Given the description of an element on the screen output the (x, y) to click on. 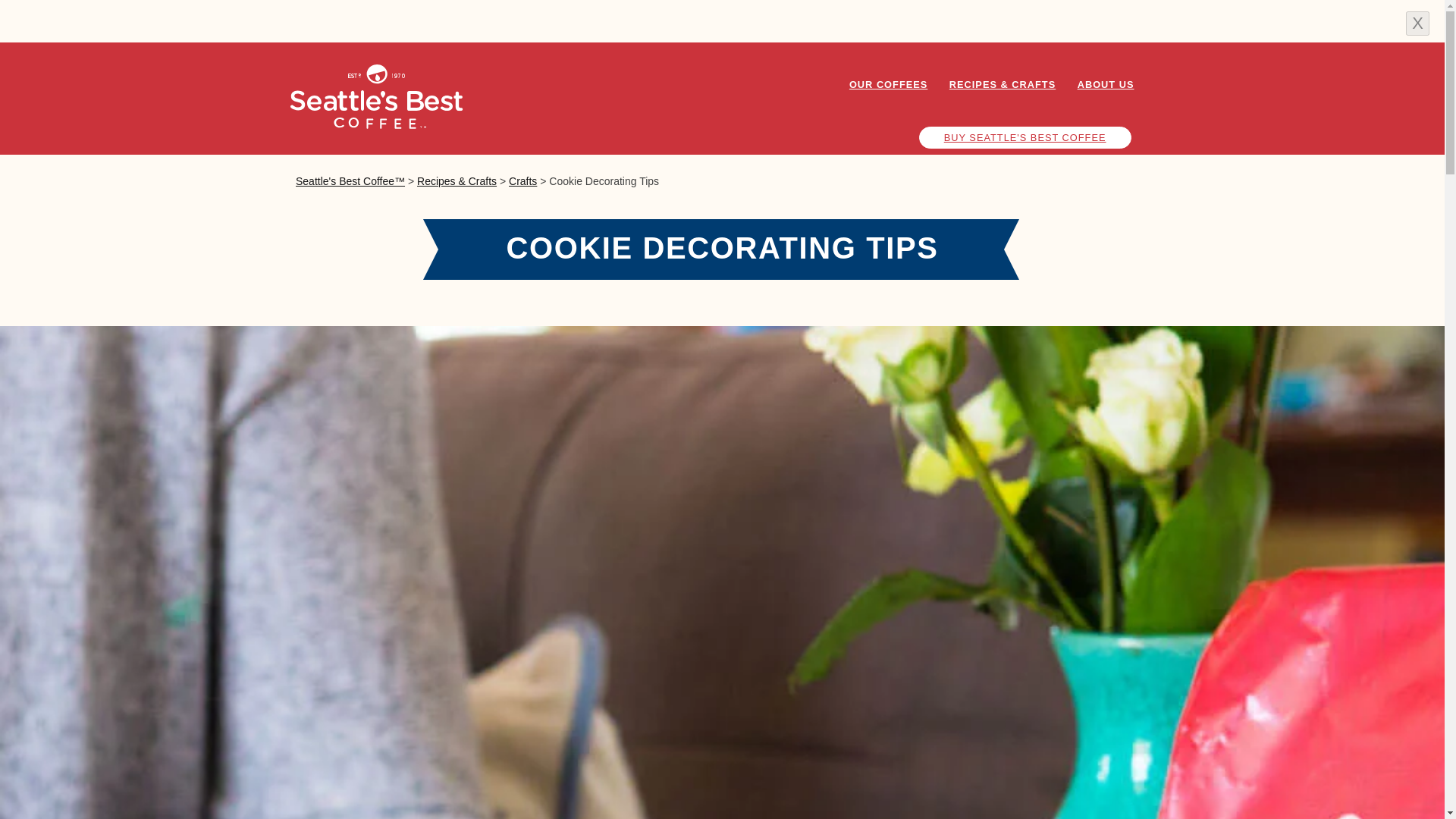
Crafts (522, 181)
Skip to main content (722, 2)
BUY SEATTLE'S BEST COFFEE (1024, 137)
OUR COFFEES (888, 84)
ABOUT US (1105, 84)
X (1417, 23)
Search (1090, 132)
